Given the description of an element on the screen output the (x, y) to click on. 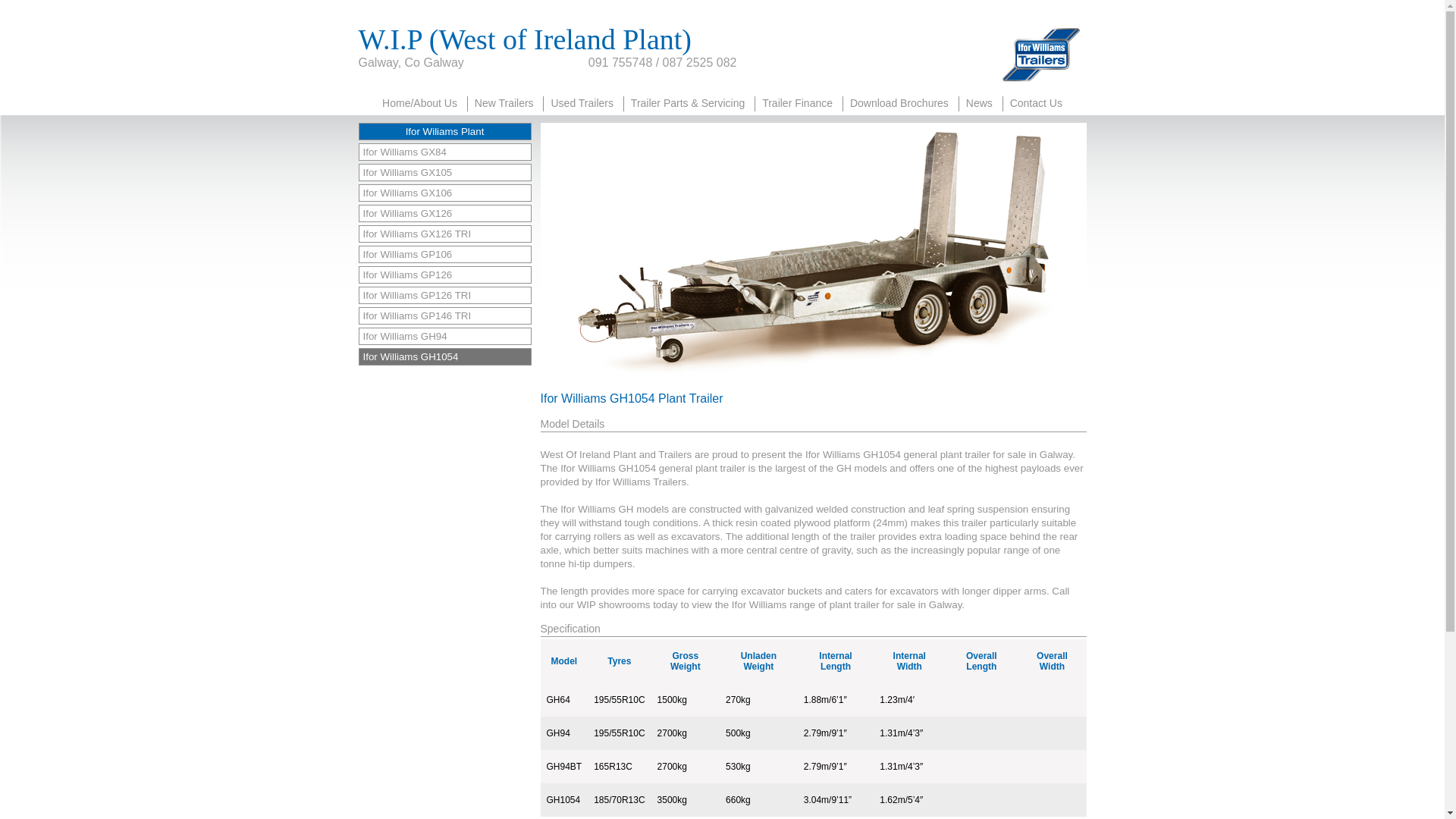
Ifor Williams GP126 TRI (444, 294)
Ifor Williams GX126 (444, 212)
Ifor Williams GX106 (444, 192)
Ifor Williams GP126 (444, 274)
Ifor Williams GP106 (444, 253)
Download Brochures (899, 104)
News (978, 104)
Ifor Wiliams Plant (444, 131)
Ifor Williams GH94 (444, 335)
Ifor Williams GX105 (444, 171)
